Given the description of an element on the screen output the (x, y) to click on. 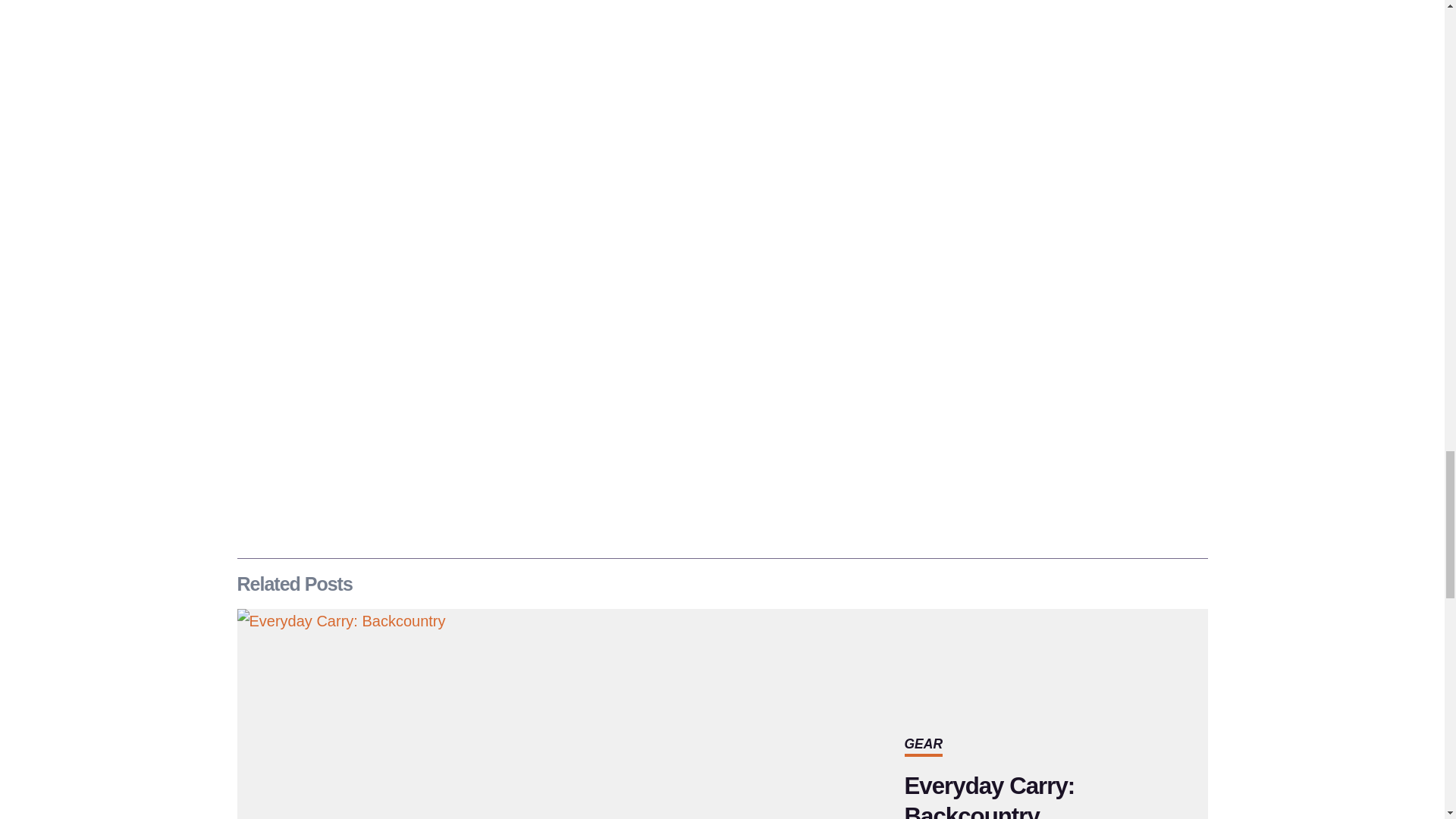
GEAR (923, 743)
Everyday Carry: Backcountry (989, 796)
